Given the description of an element on the screen output the (x, y) to click on. 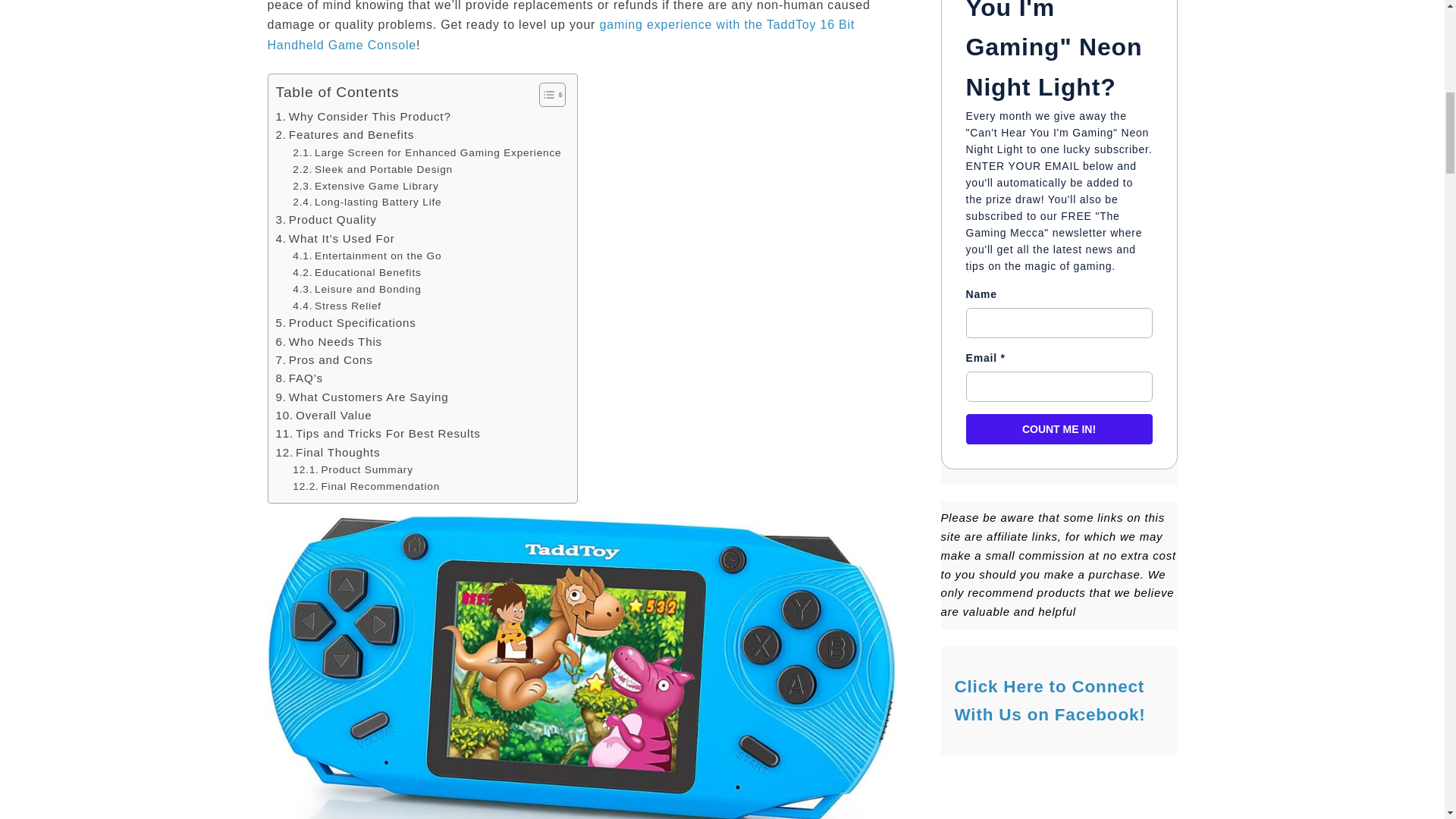
Large Screen for Enhanced Gaming Experience (426, 152)
Entertainment on the Go (366, 256)
Features and Benefits (345, 135)
Long-lasting Battery Life (366, 202)
Leisure and Bonding (356, 289)
Extensive Game Library (365, 185)
Long-lasting Battery Life (366, 202)
Sleek and Portable Design (372, 169)
Large Screen for Enhanced Gaming Experience (426, 152)
Product Quality (326, 219)
Why Consider This Product? (363, 116)
Product Specifications (346, 322)
Educational Benefits (356, 272)
Educational Benefits (356, 272)
